Given the description of an element on the screen output the (x, y) to click on. 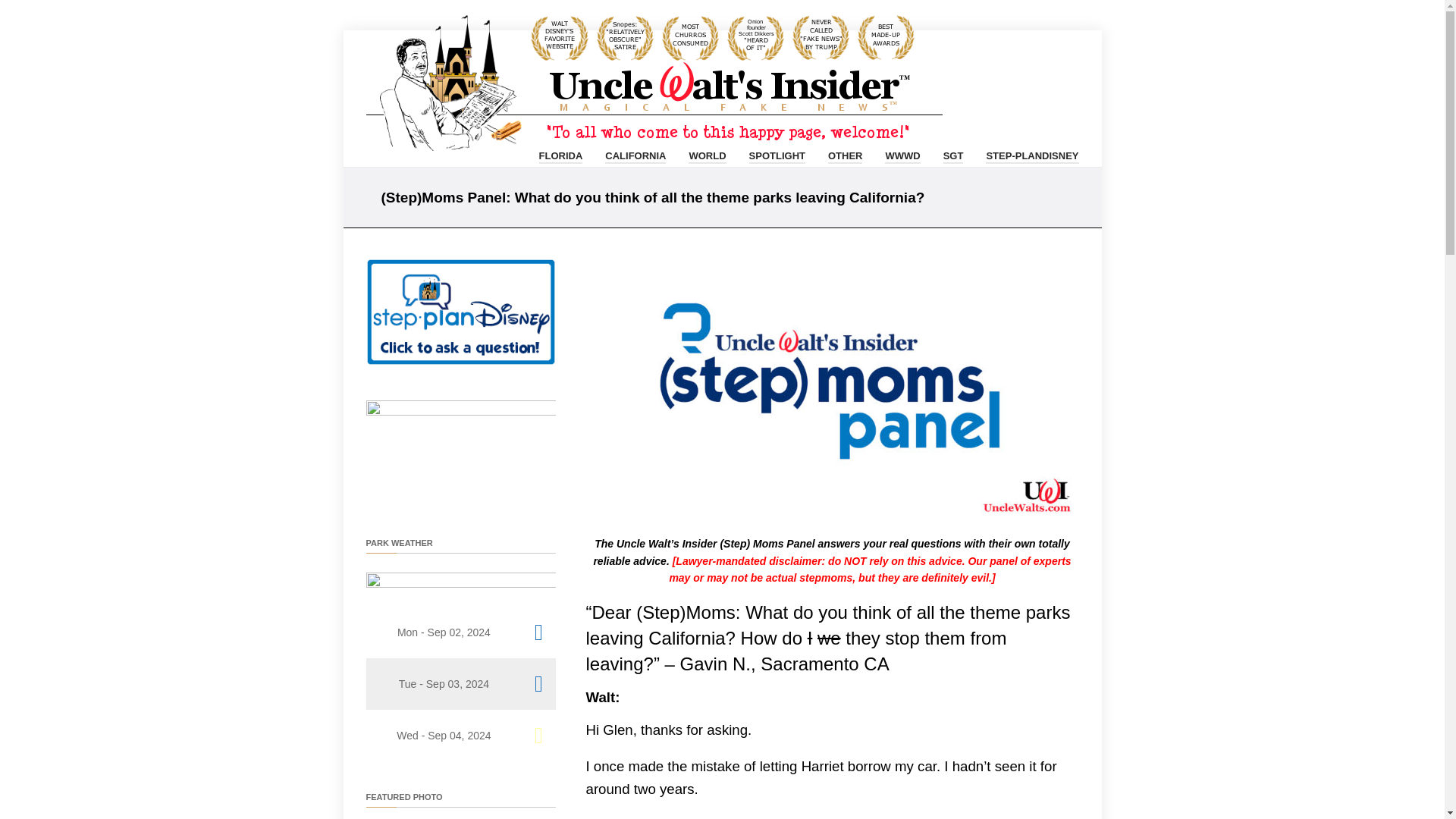
WORLD (706, 153)
OTHER (845, 153)
STEP-PLANDISNEY (1031, 153)
WWWD (902, 153)
SPOTLIGHT (777, 153)
FLORIDA (560, 153)
SGT (953, 153)
CALIFORNIA (635, 153)
